Given the description of an element on the screen output the (x, y) to click on. 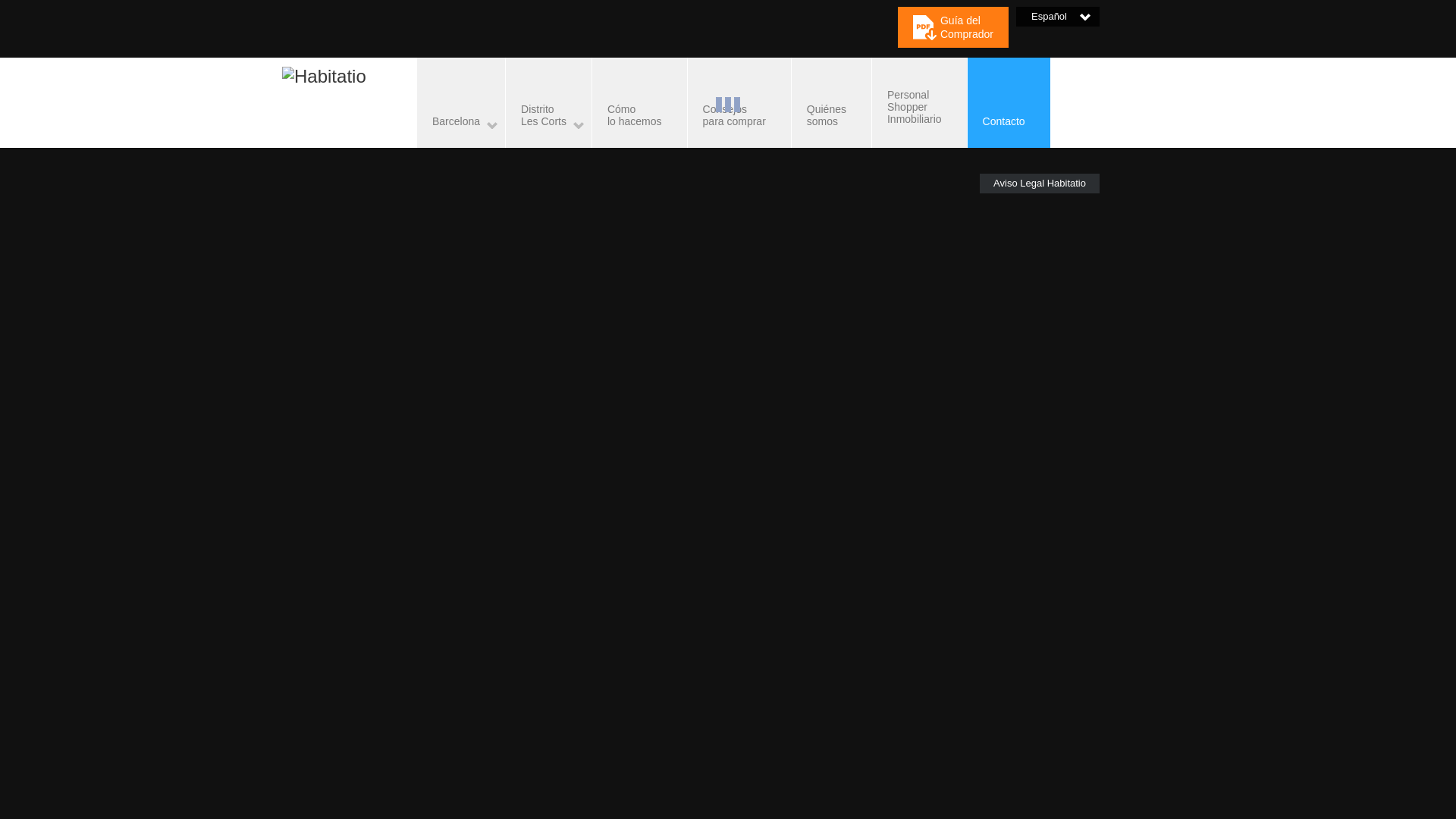
Contacto (1008, 102)
Personal Shopper Inmobiliario Les Corts (738, 102)
Inmobiliaria en Barcelona (548, 102)
Habitatio (460, 102)
Aviso Legal Habitatio (324, 75)
